Given the description of an element on the screen output the (x, y) to click on. 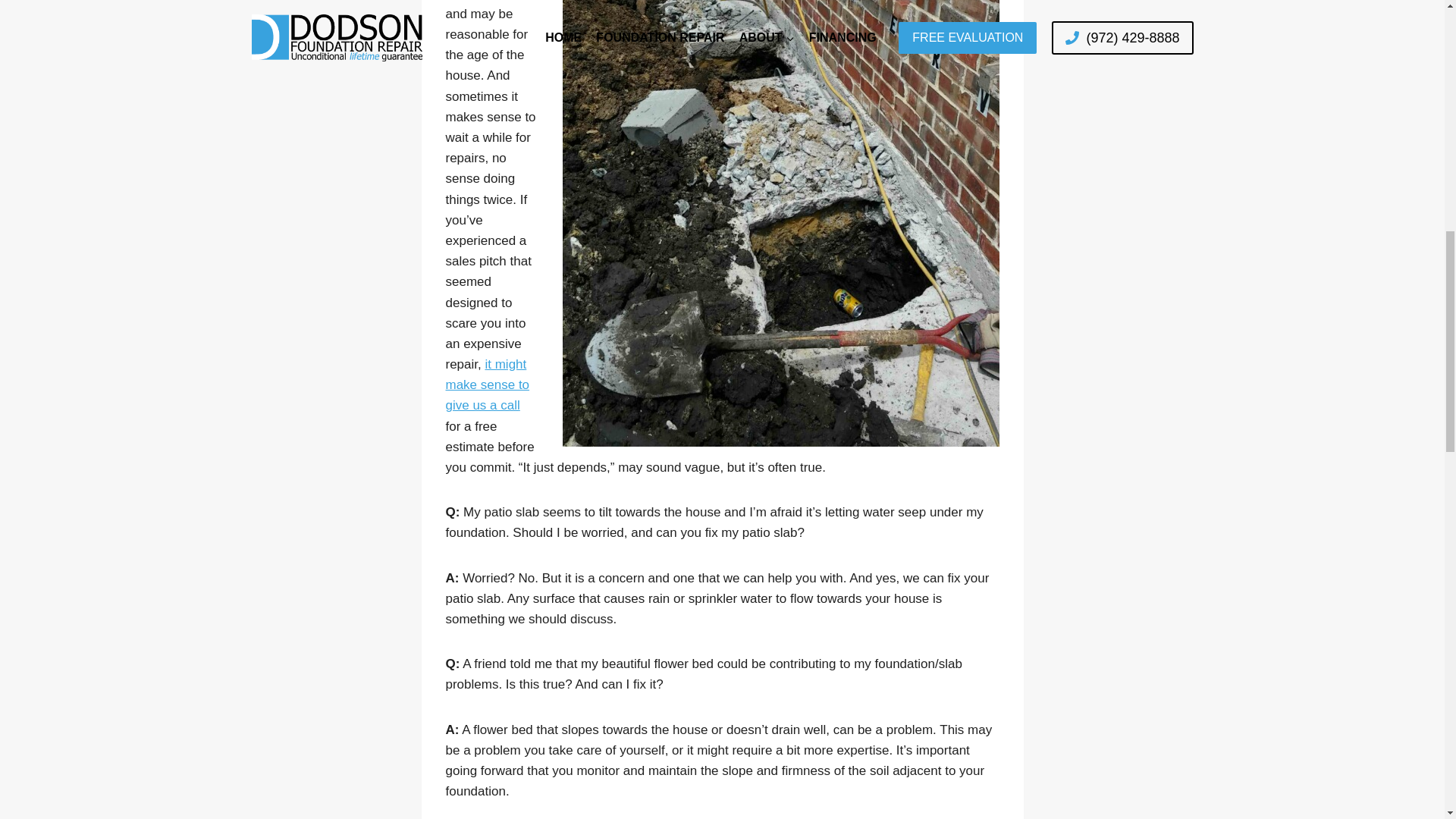
it might make sense to give us a call (487, 384)
